Given the description of an element on the screen output the (x, y) to click on. 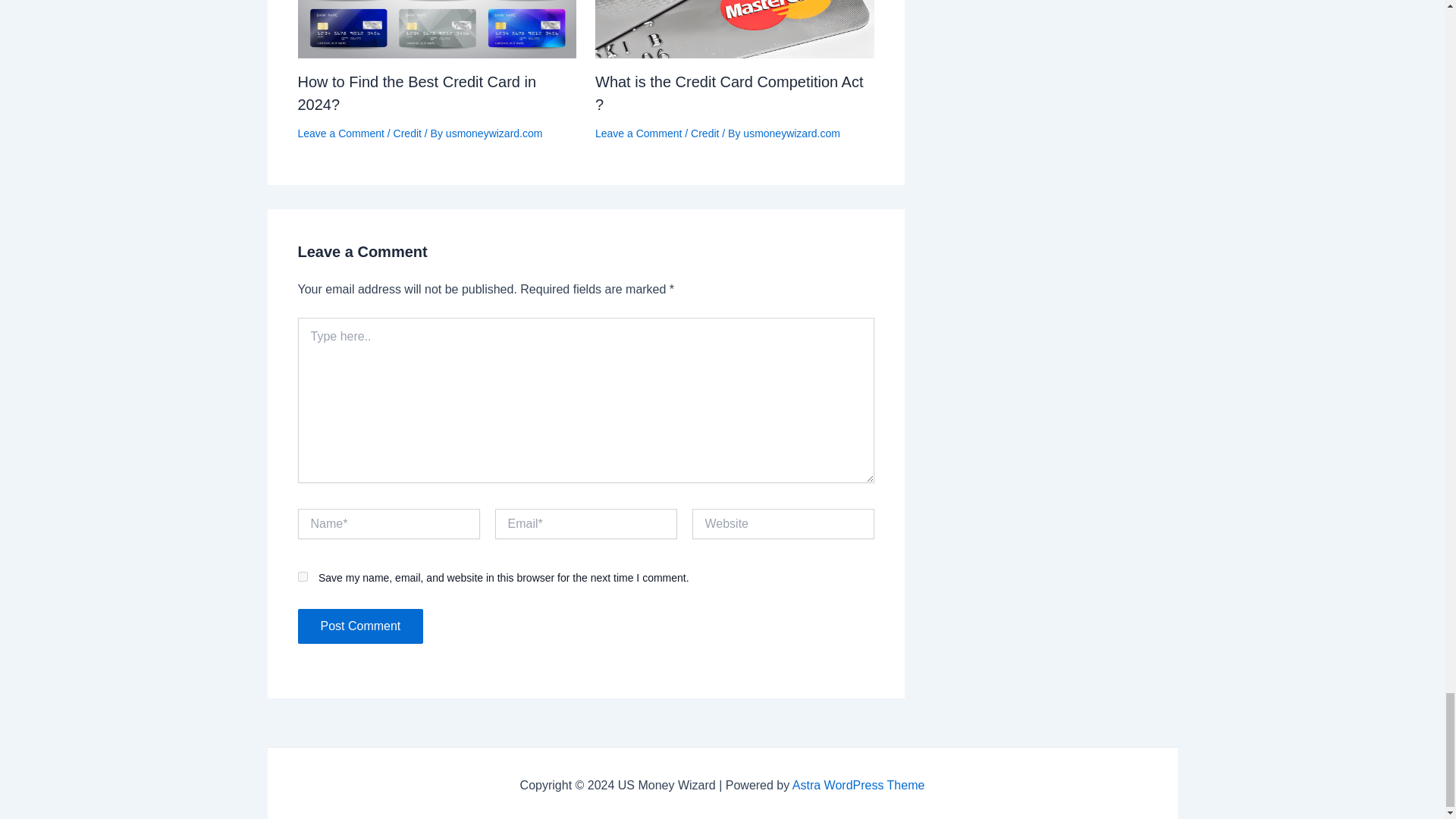
Post Comment (360, 626)
yes (302, 576)
View all posts by usmoneywizard.com (494, 133)
View all posts by usmoneywizard.com (791, 133)
